Given the description of an element on the screen output the (x, y) to click on. 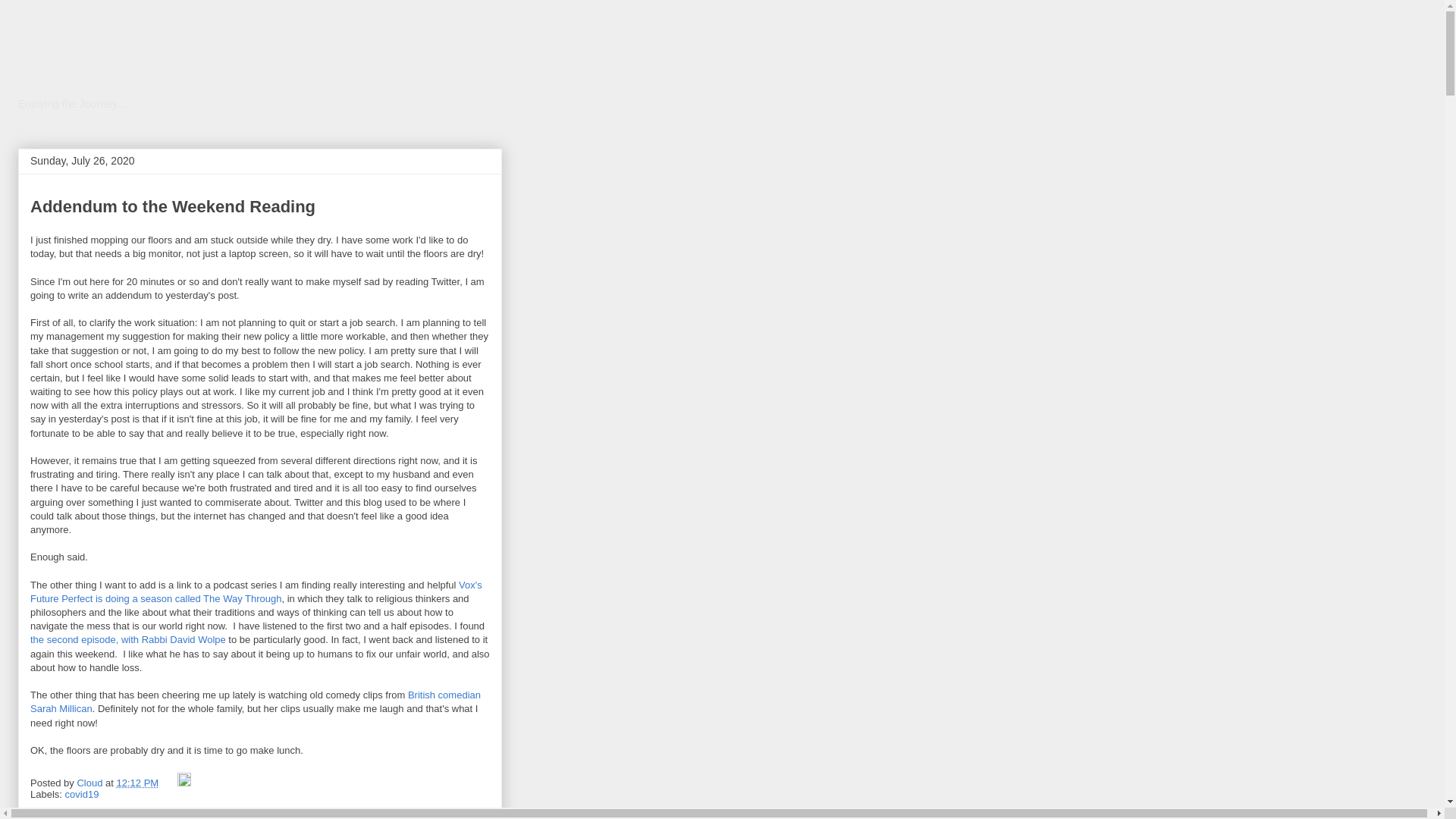
permanent link (137, 782)
British comedian Sarah Millican (255, 701)
12:12 PM (137, 782)
Cloud (90, 782)
Email Post (169, 782)
Wandering Scientist (162, 59)
the second episode, with Rabbi David Wolpe (127, 639)
author profile (90, 782)
Edit Post (183, 782)
covid19 (82, 794)
